Given the description of an element on the screen output the (x, y) to click on. 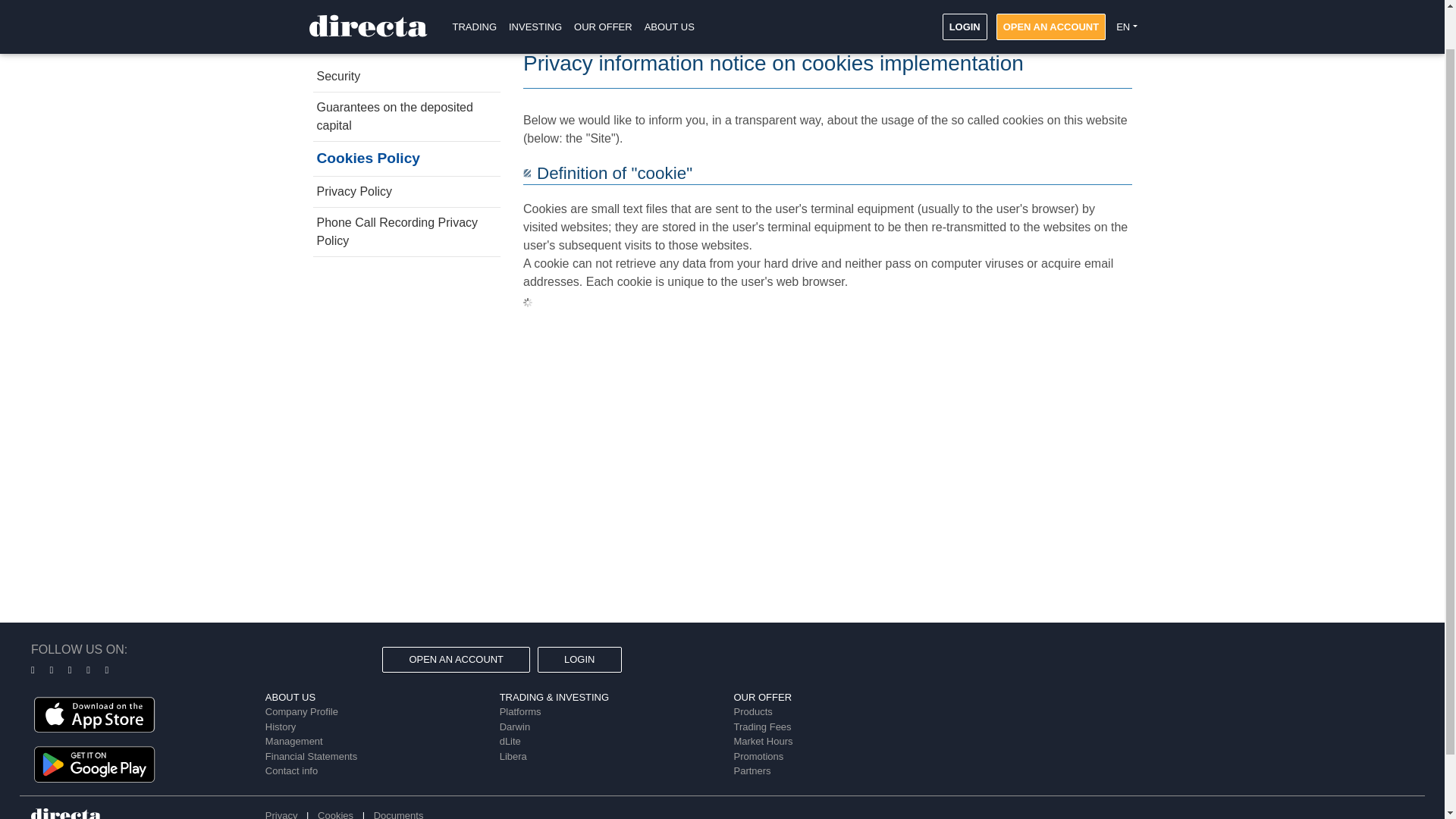
Libera (513, 756)
Management (293, 740)
Promotions (758, 756)
Privacy Policy (406, 191)
dLite (510, 740)
Darwin (514, 726)
Phone Call Recording Privacy Policy (406, 232)
Trading Fees (761, 726)
Market Hours (762, 740)
Company Profile (300, 711)
Financial Statements (310, 756)
Contact info (290, 770)
Guarantees on the deposited capital (406, 116)
Products (752, 711)
Security (406, 76)
